Given the description of an element on the screen output the (x, y) to click on. 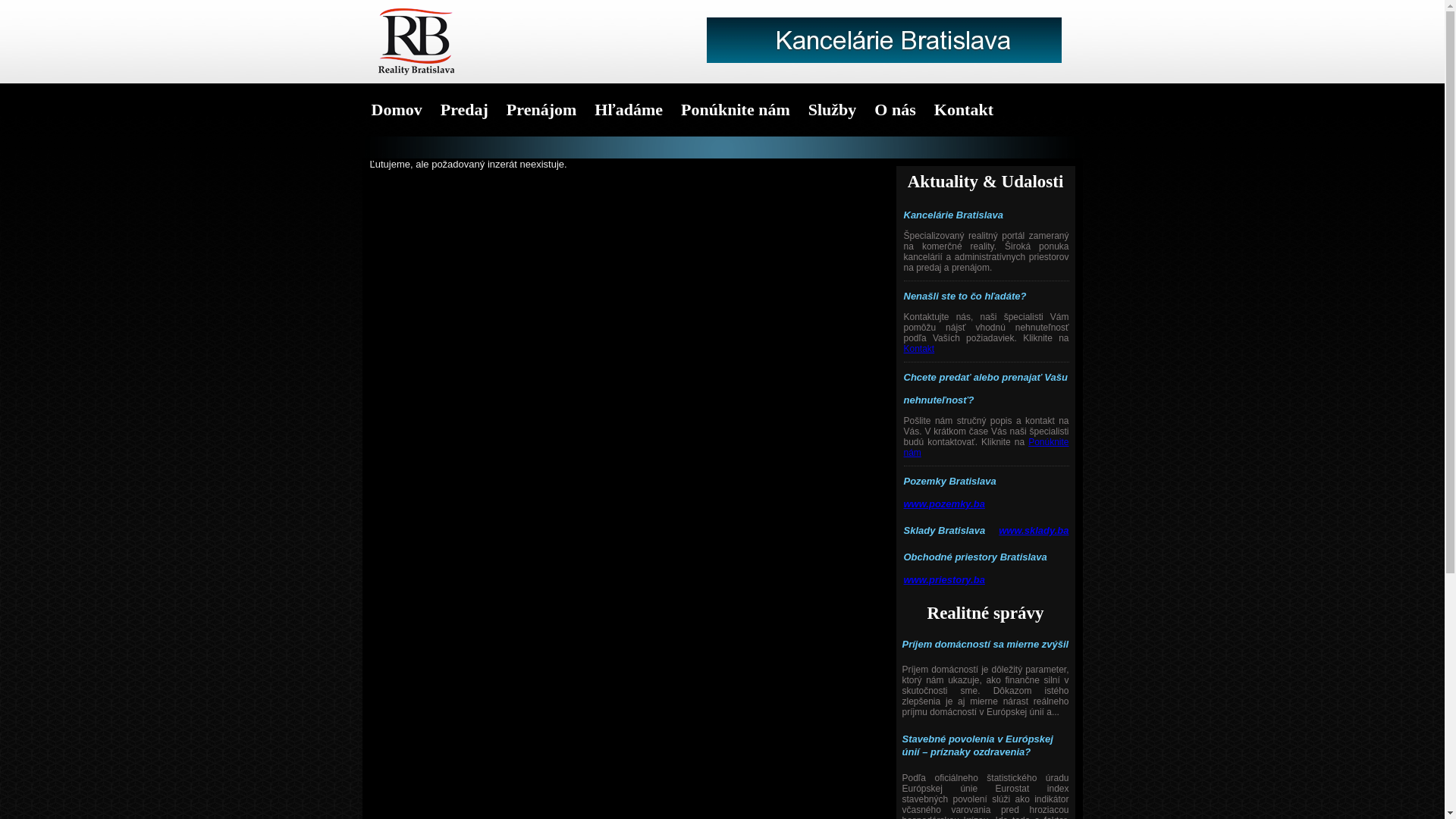
Kontakt Element type: text (963, 109)
www.pozemky.ba Element type: text (944, 503)
Kontakt Element type: text (919, 348)
www.sklady.ba Element type: text (1033, 530)
Predaj Element type: text (464, 109)
www.priestory.ba Element type: text (944, 579)
Domov Element type: text (396, 109)
